Given the description of an element on the screen output the (x, y) to click on. 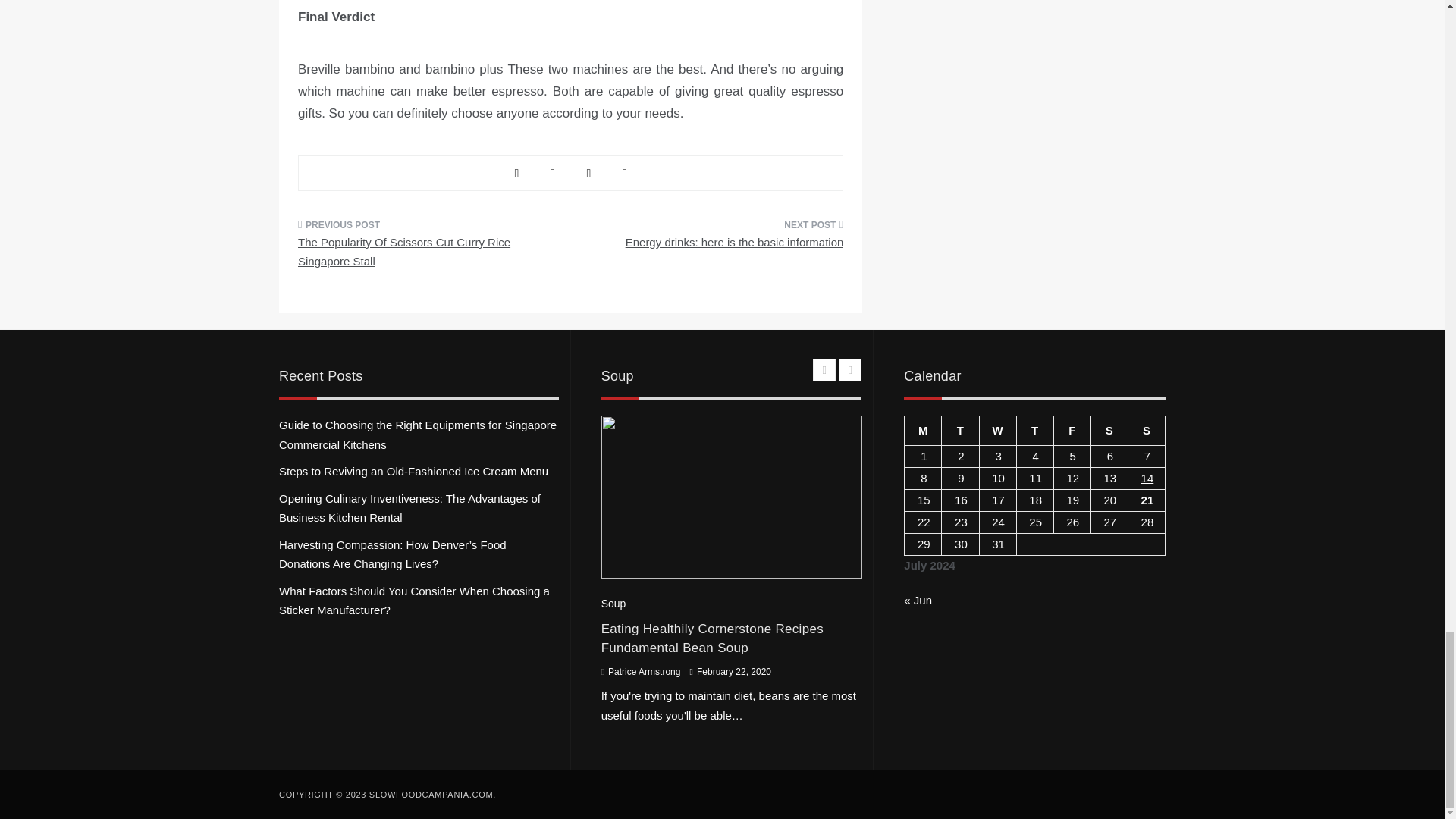
Thursday (1034, 430)
Sunday (1145, 430)
Tuesday (960, 430)
Wednesday (997, 430)
Saturday (1108, 430)
Monday (923, 430)
Friday (1071, 430)
